Given the description of an element on the screen output the (x, y) to click on. 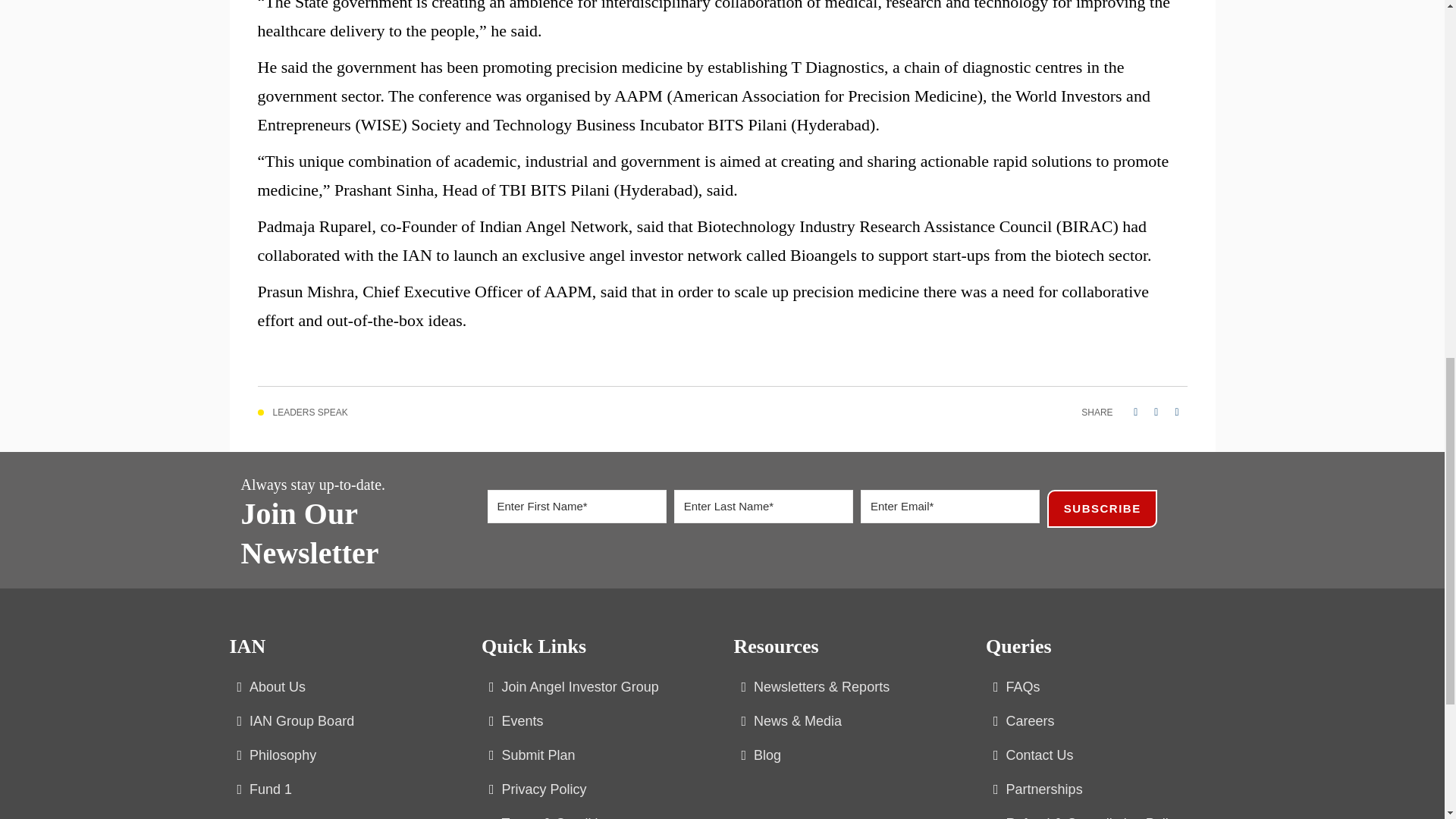
Subscribe (1101, 508)
